Given the description of an element on the screen output the (x, y) to click on. 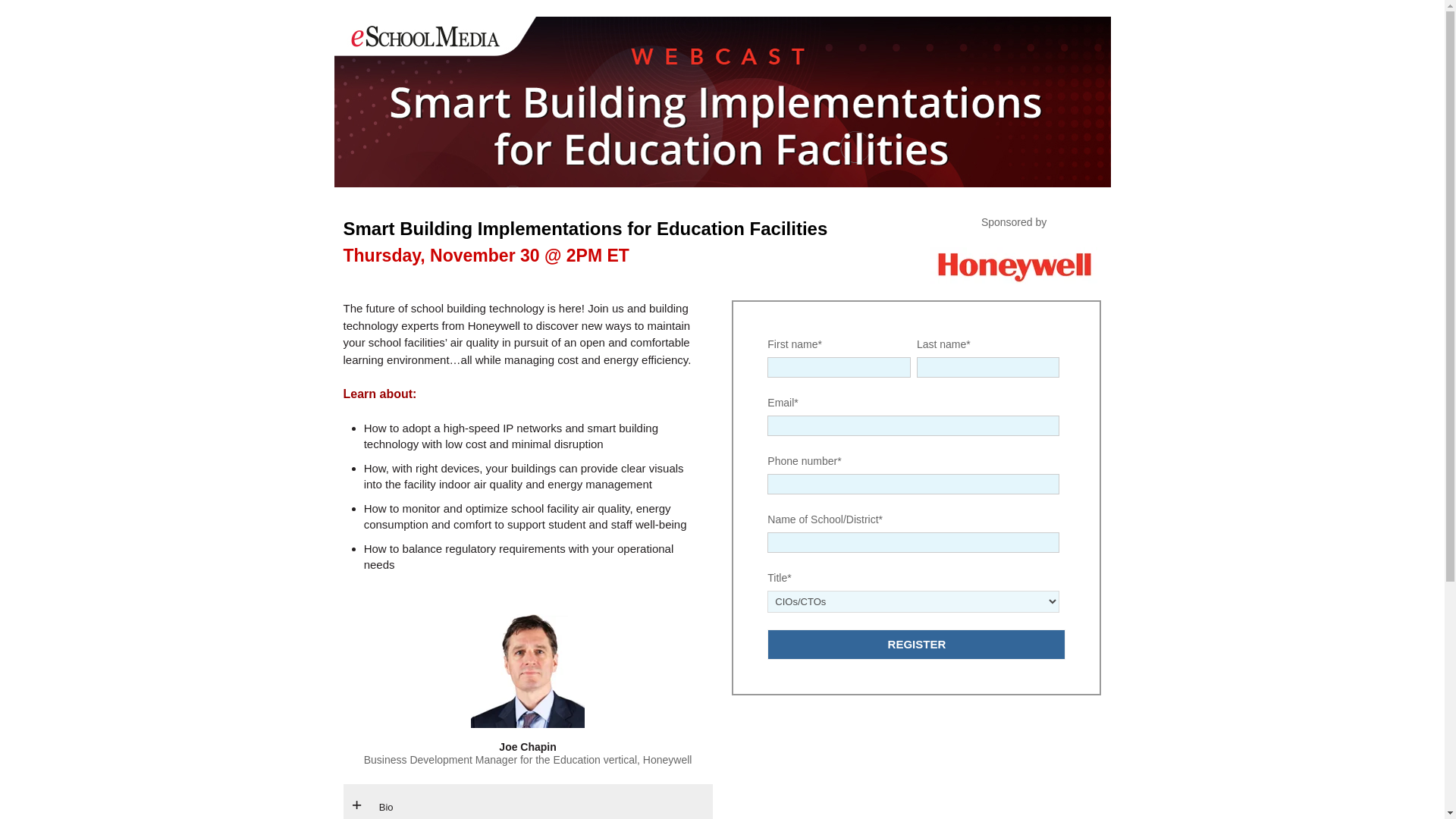
REGISTER (916, 644)
REGISTER (916, 644)
